Given the description of an element on the screen output the (x, y) to click on. 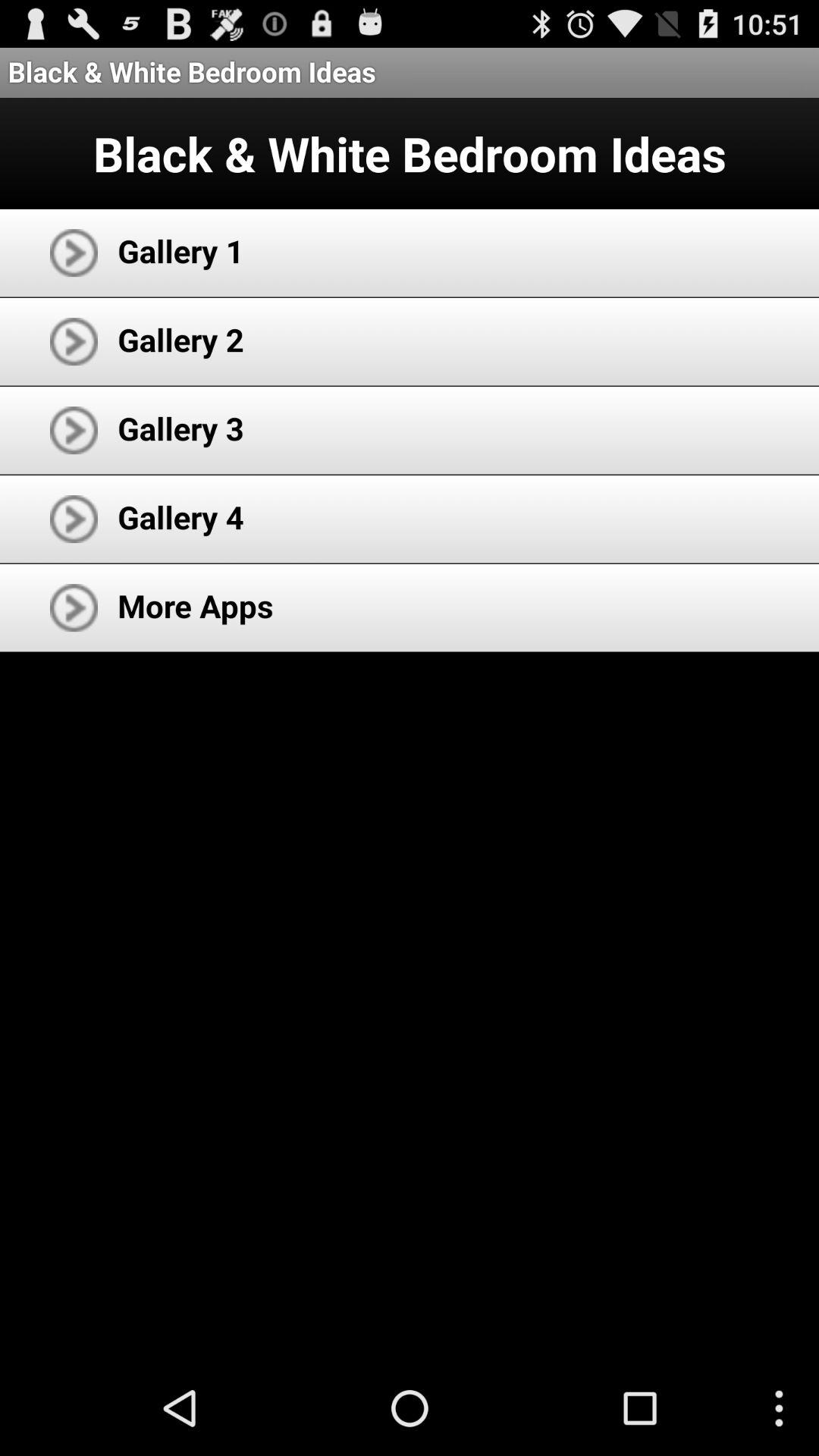
launch the icon below the gallery 3 (180, 516)
